Given the description of an element on the screen output the (x, y) to click on. 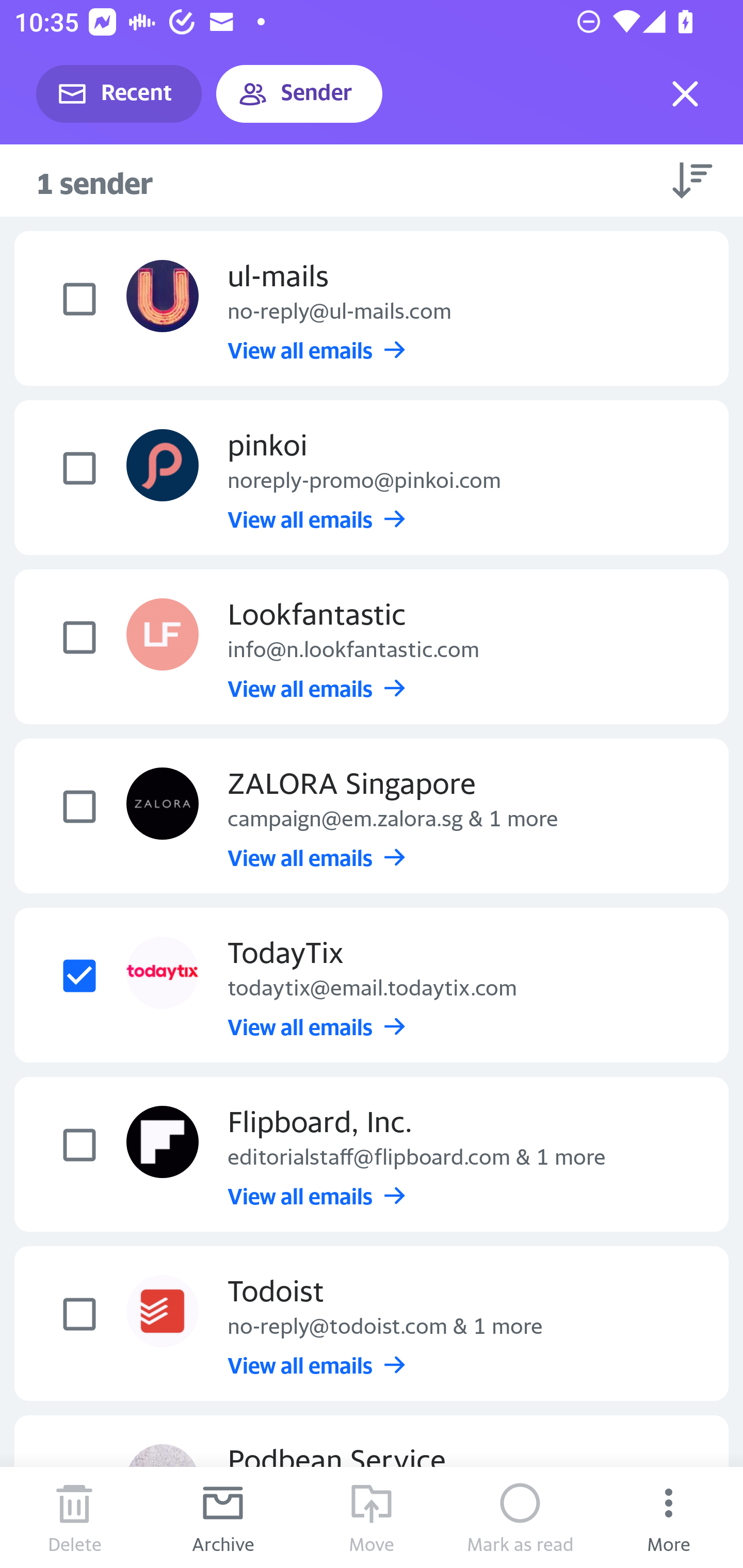
Recent (119, 93)
Exit selection mode (684, 93)
Sort (692, 180)
ul-mails no-reply@ul-mails.com View all emails (371, 307)
pinkoi noreply-promo@pinkoi.com View all emails (371, 477)
Delete (74, 1517)
Archive (222, 1517)
Move (371, 1517)
Mark as read (519, 1517)
More (668, 1517)
